Given the description of an element on the screen output the (x, y) to click on. 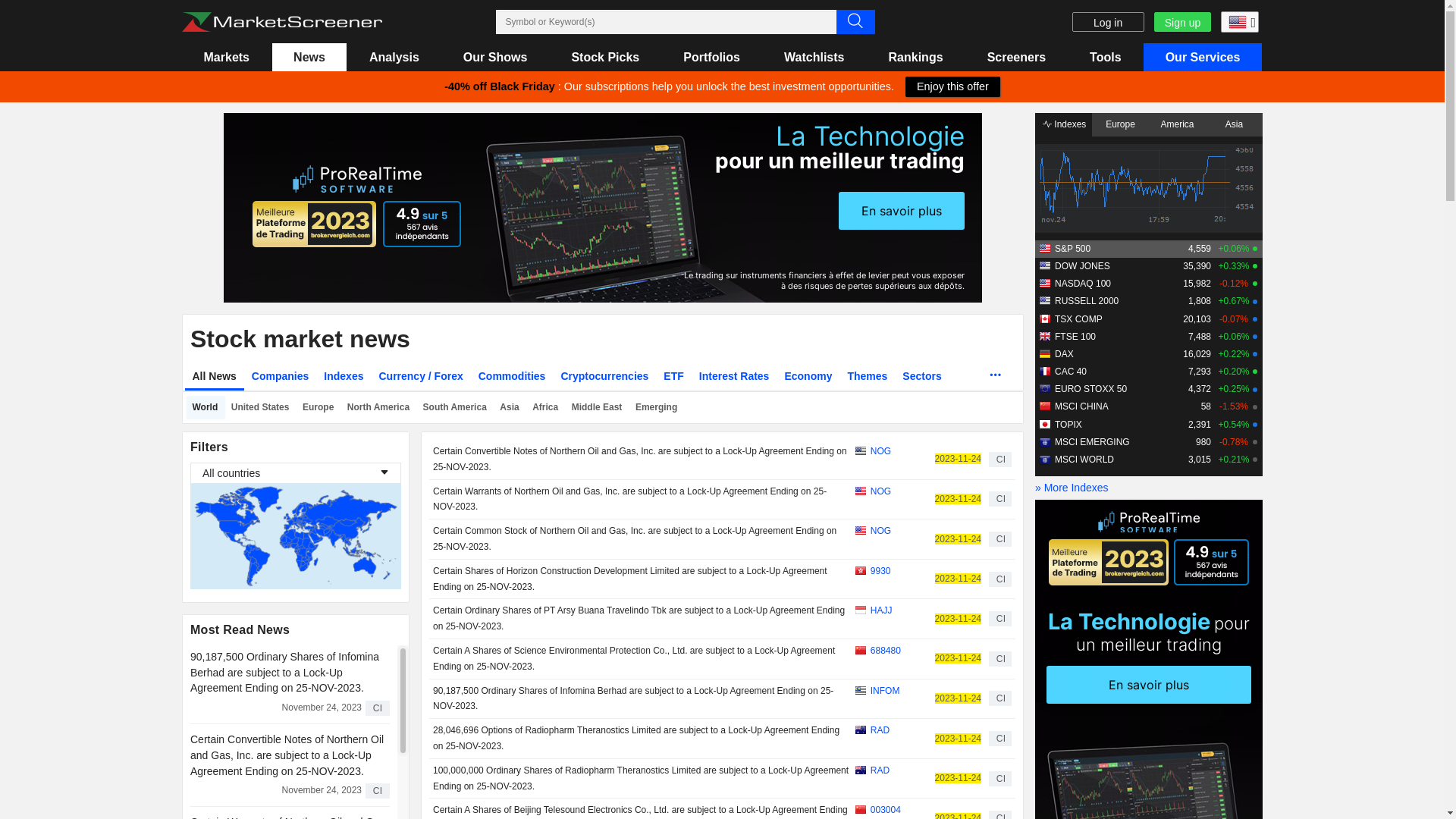
Marketscreener : stock market and financial news Element type: hover (282, 20)
News Element type: text (309, 57)
Markets Element type: text (226, 57)
English (USA) Element type: hover (1237, 21)
MSCI WORLD Element type: text (1083, 459)
NASDAQ 100 Element type: text (1082, 283)
Screeners Element type: text (1015, 57)
Real-time Quote Element type: hover (1254, 248)
Europe Element type: text (1120, 124)
EURO STOXX 50 Element type: text (1090, 388)
End-of-day quote Element type: hover (1254, 441)
Delayed Quote Element type: hover (1254, 353)
South America Element type: text (455, 407)
Cryptocurrencies Element type: text (604, 376)
DOW JONES Element type: text (1082, 265)
Delayed Quote Element type: hover (1254, 301)
Middle East Element type: text (597, 407)
Our Services Element type: text (1202, 57)
Currency / Forex Element type: text (420, 376)
All News Element type: text (214, 376)
United States Element type: text (260, 407)
More Indexes Element type: text (1148, 487)
S&P 500 Element type: text (1072, 248)
Companies Element type: text (279, 376)
MSCI CHINA Element type: text (1081, 406)
DAX Element type: text (1063, 353)
Delayed Quote Element type: hover (1254, 424)
Analysis Element type: text (393, 57)
Delayed Quote Element type: hover (1254, 336)
Europe Element type: text (318, 407)
3rd party ad content Element type: hover (602, 207)
Sign up Element type: text (1182, 21)
RUSSELL 2000 Element type: text (1086, 300)
Real-time Quote Element type: hover (1254, 371)
Asia Element type: text (1233, 124)
Economy Element type: text (807, 376)
Indexes Element type: text (1063, 124)
Delayed Quote Element type: hover (1254, 389)
End-of-day quote Element type: hover (1254, 406)
North America Element type: text (379, 407)
Most Read News Element type: text (239, 629)
Real-time Quote Element type: hover (1254, 265)
America Element type: text (1176, 124)
TSX COMP Element type: text (1078, 318)
Portfolios Element type: text (712, 57)
Asia Element type: text (510, 407)
Tools Element type: text (1105, 57)
Rankings Element type: text (915, 57)
End-of-day quote Element type: hover (1254, 459)
Log in Element type: text (1108, 21)
CAC 40 Element type: text (1070, 371)
Advanced search Element type: hover (854, 21)
Stock Picks Element type: text (605, 57)
Themes Element type: text (867, 376)
Emerging Element type: text (656, 407)
ETF Element type: text (673, 376)
Africa Element type: text (546, 407)
TOPIX Element type: text (1068, 424)
MSCI EMERGING Element type: text (1091, 441)
Delayed Quote Element type: hover (1254, 318)
Commodities Element type: text (512, 376)
Interest Rates Element type: text (734, 376)
World Element type: text (205, 407)
Real-time Quote Element type: hover (1254, 283)
Watchlists Element type: text (814, 57)
Our Shows Element type: text (495, 57)
Indexes Element type: text (343, 376)
Sectors Element type: text (921, 376)
FTSE 100 Element type: text (1074, 336)
